Given the description of an element on the screen output the (x, y) to click on. 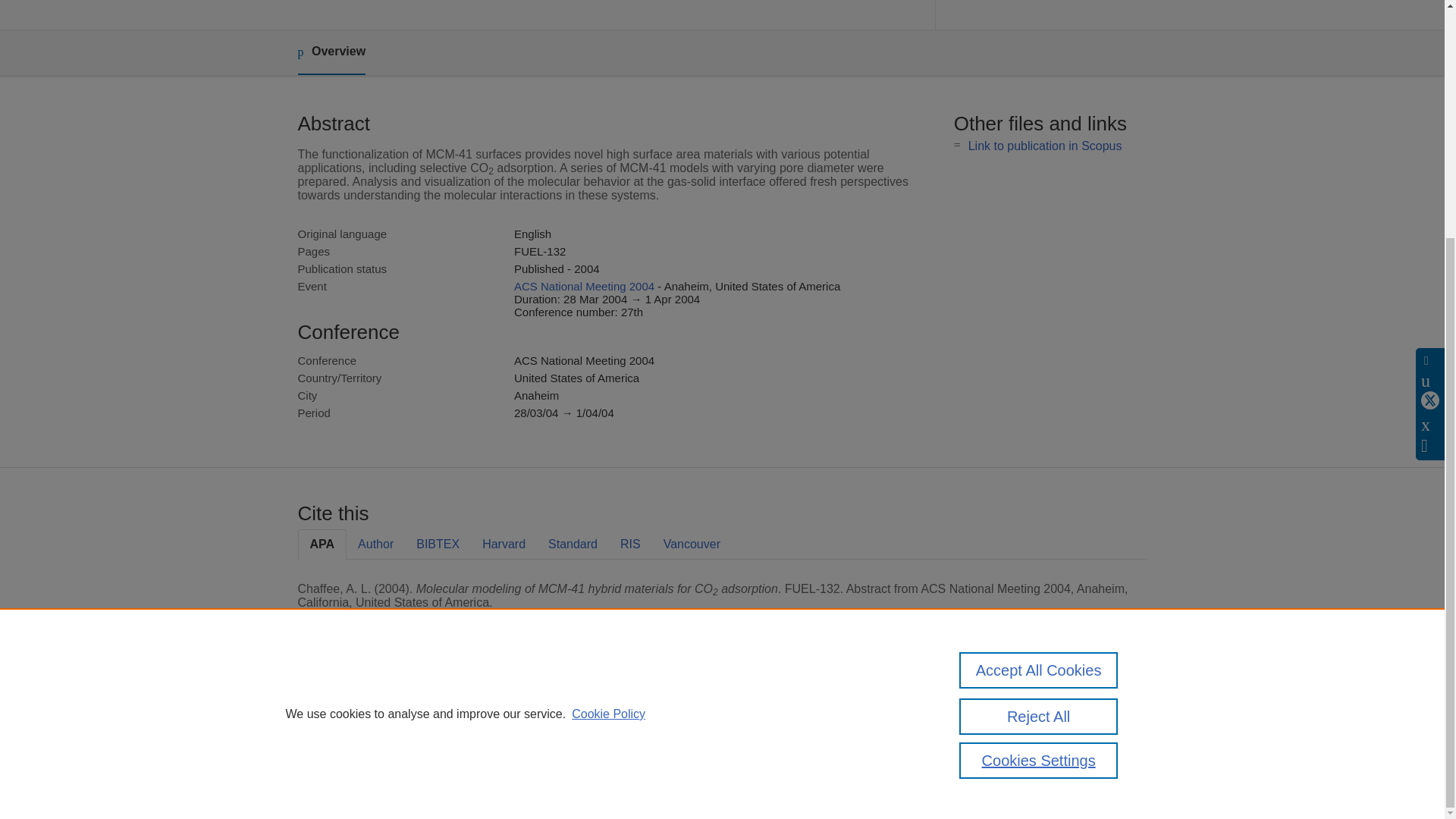
Link to publication in Scopus (1045, 145)
Report vulnerability (1000, 760)
Cookies Settings (1038, 434)
Overview (331, 52)
Reject All (1038, 390)
Monash University data protection policy (1009, 713)
Cookies Settings (334, 781)
About web accessibility (1008, 740)
ACS National Meeting 2004 (583, 286)
Scopus (394, 708)
use of cookies (796, 760)
Elsevier B.V. (506, 728)
Cookie Policy (608, 387)
Accept All Cookies (1038, 343)
Contact us (1123, 713)
